Given the description of an element on the screen output the (x, y) to click on. 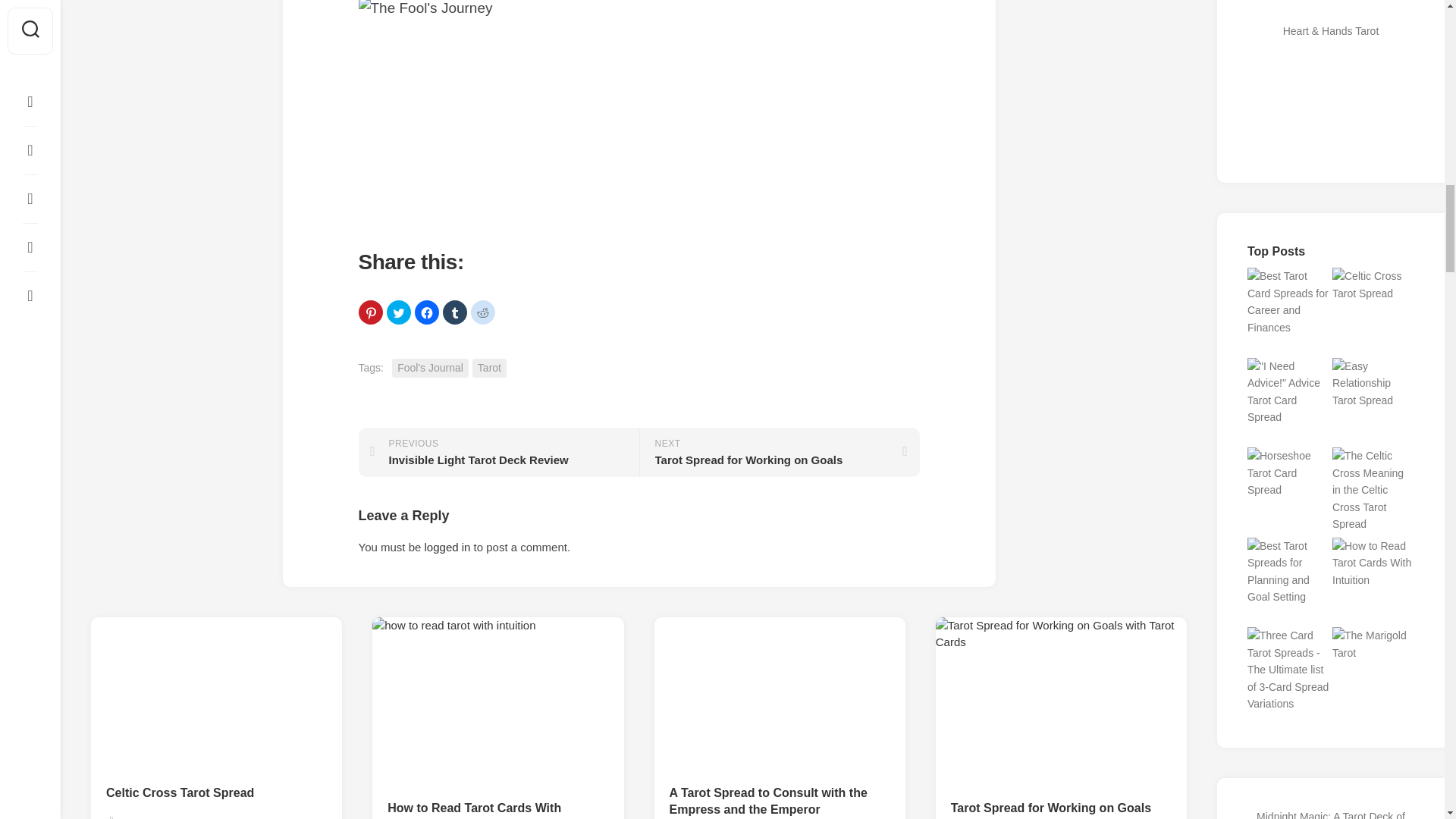
logged in (447, 546)
Click to share on Pinterest (369, 312)
Click to share on Twitter (398, 312)
Tarot (498, 451)
Click to share on Tumblr (488, 367)
Click to share on Reddit (454, 312)
Click to share on Facebook (482, 312)
Fool's Journal (425, 312)
